Given the description of an element on the screen output the (x, y) to click on. 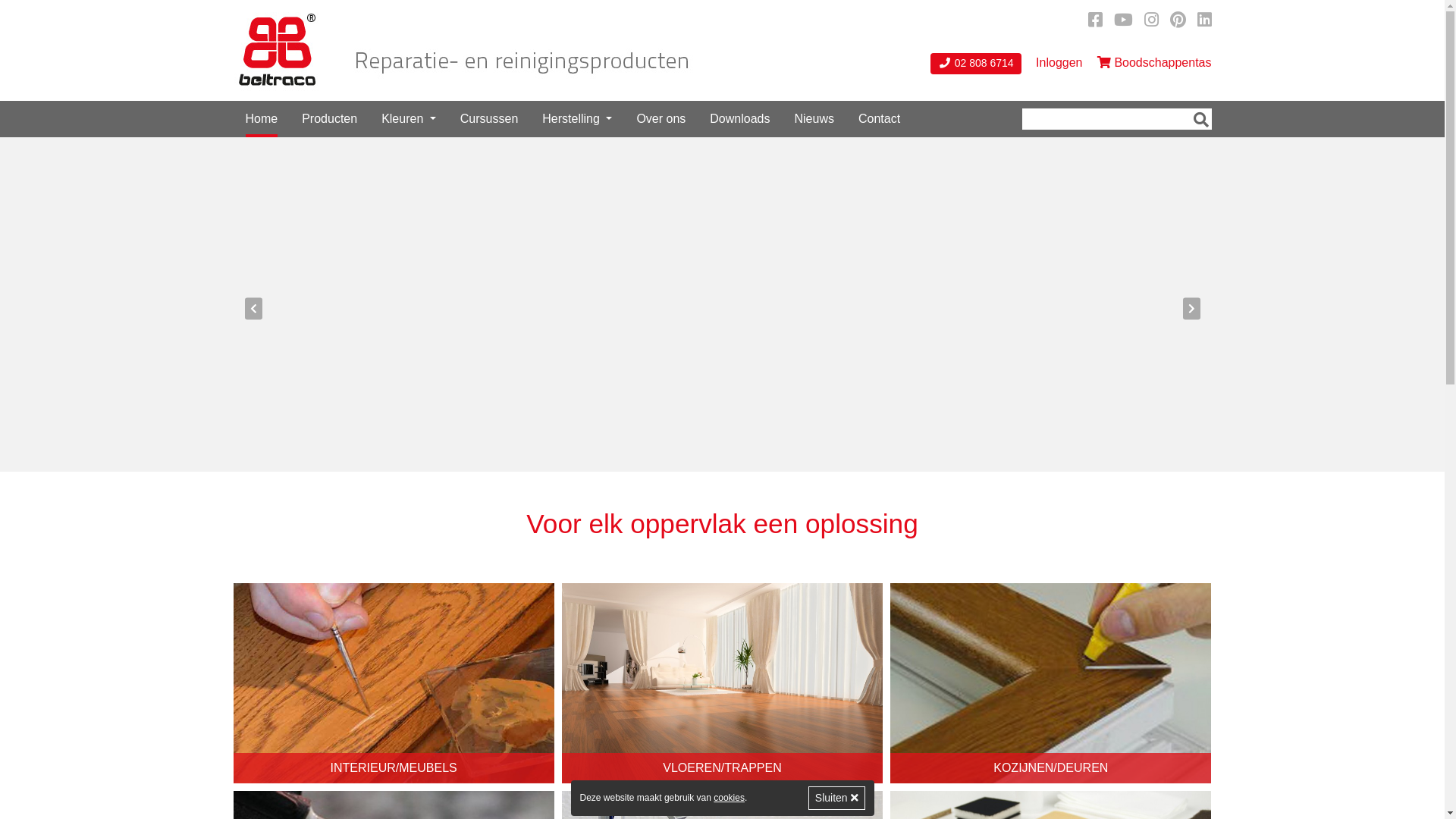
KOZIJNEN/DEUREN Element type: text (1050, 683)
Over ons Element type: text (660, 118)
Herstelling Element type: text (576, 118)
cookies Element type: text (728, 797)
VLOEREN/TRAPPEN Element type: text (721, 683)
Contact Element type: text (879, 118)
Sluiten Element type: text (836, 797)
Downloads Element type: text (739, 118)
Home Element type: text (261, 118)
Inloggen Element type: text (1058, 62)
Kleuren Element type: text (408, 118)
INTERIEUR/MEUBELS Element type: text (393, 683)
Producten Element type: text (329, 118)
Boodschappentas Element type: text (1154, 62)
Nieuws Element type: text (813, 118)
Cursussen Element type: text (488, 118)
